Given the description of an element on the screen output the (x, y) to click on. 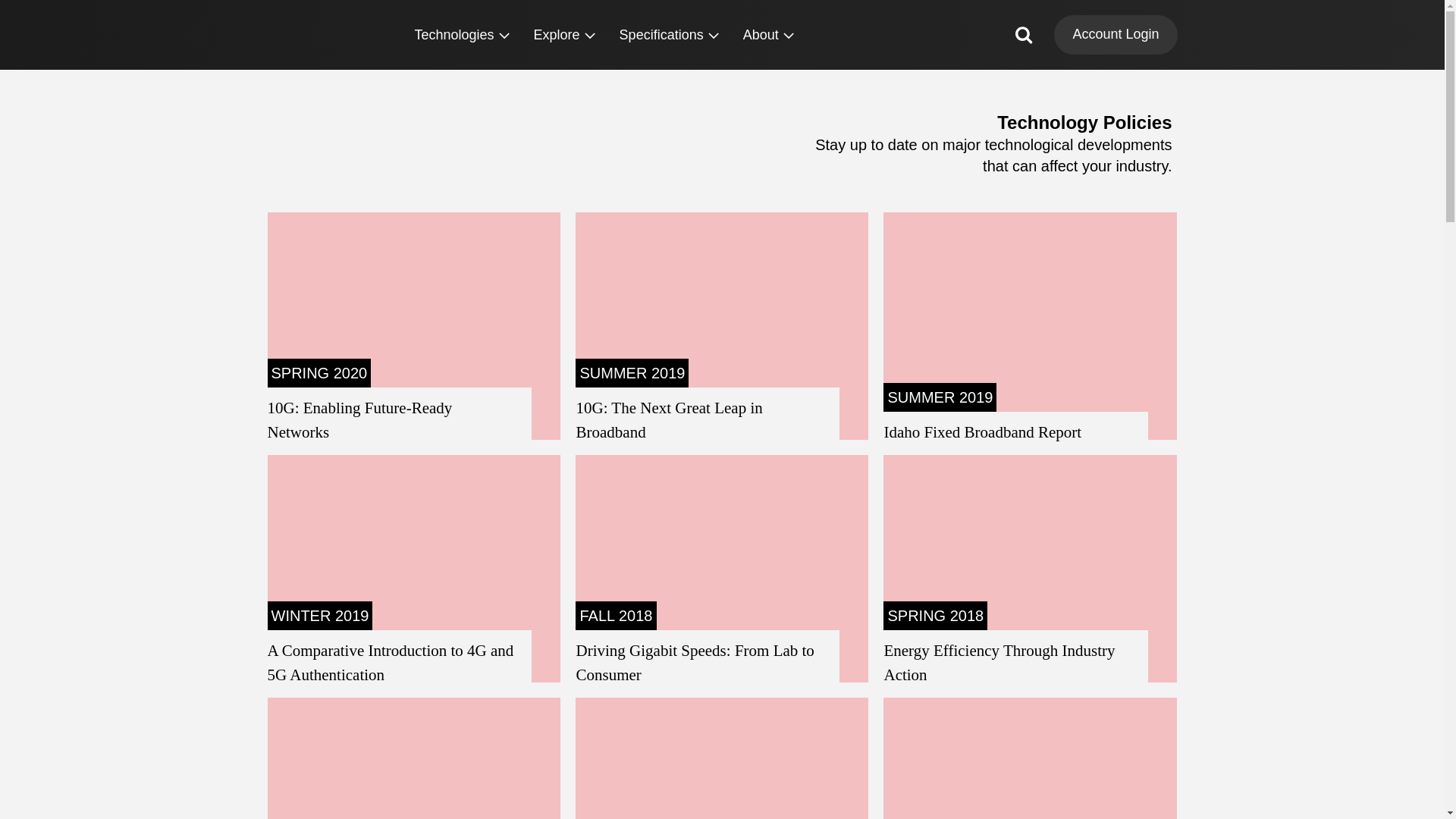
Explore (564, 35)
Specifications (668, 35)
CableLabs (325, 34)
Technologies (461, 35)
About (768, 35)
